Given the description of an element on the screen output the (x, y) to click on. 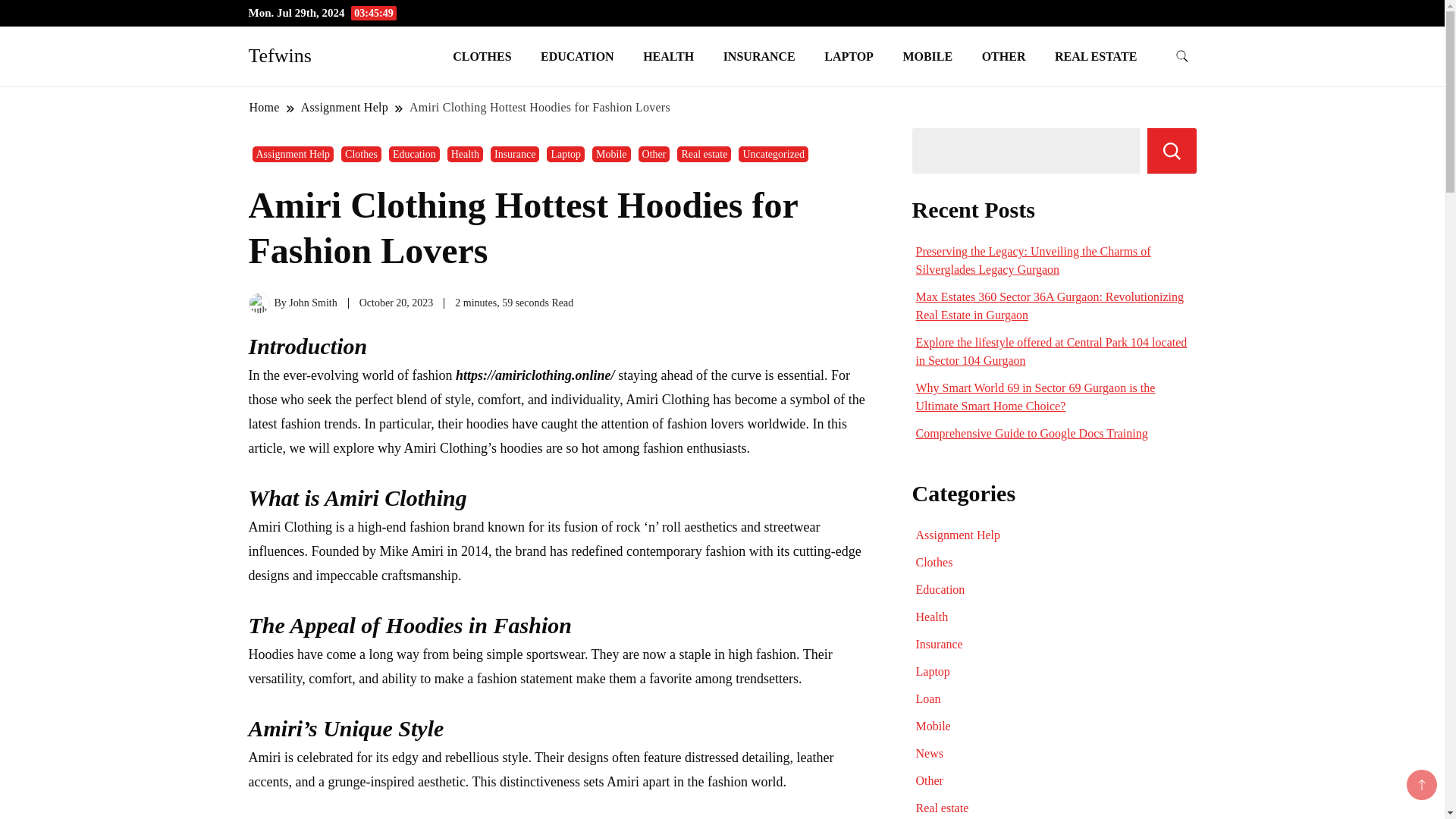
Uncategorized (773, 154)
Home (264, 106)
Education (413, 154)
Mobile (611, 154)
Assignment Help (343, 106)
Tefwins (279, 55)
Real estate (703, 154)
October 20, 2023 (396, 302)
Laptop (566, 154)
REAL ESTATE (1096, 56)
